Given the description of an element on the screen output the (x, y) to click on. 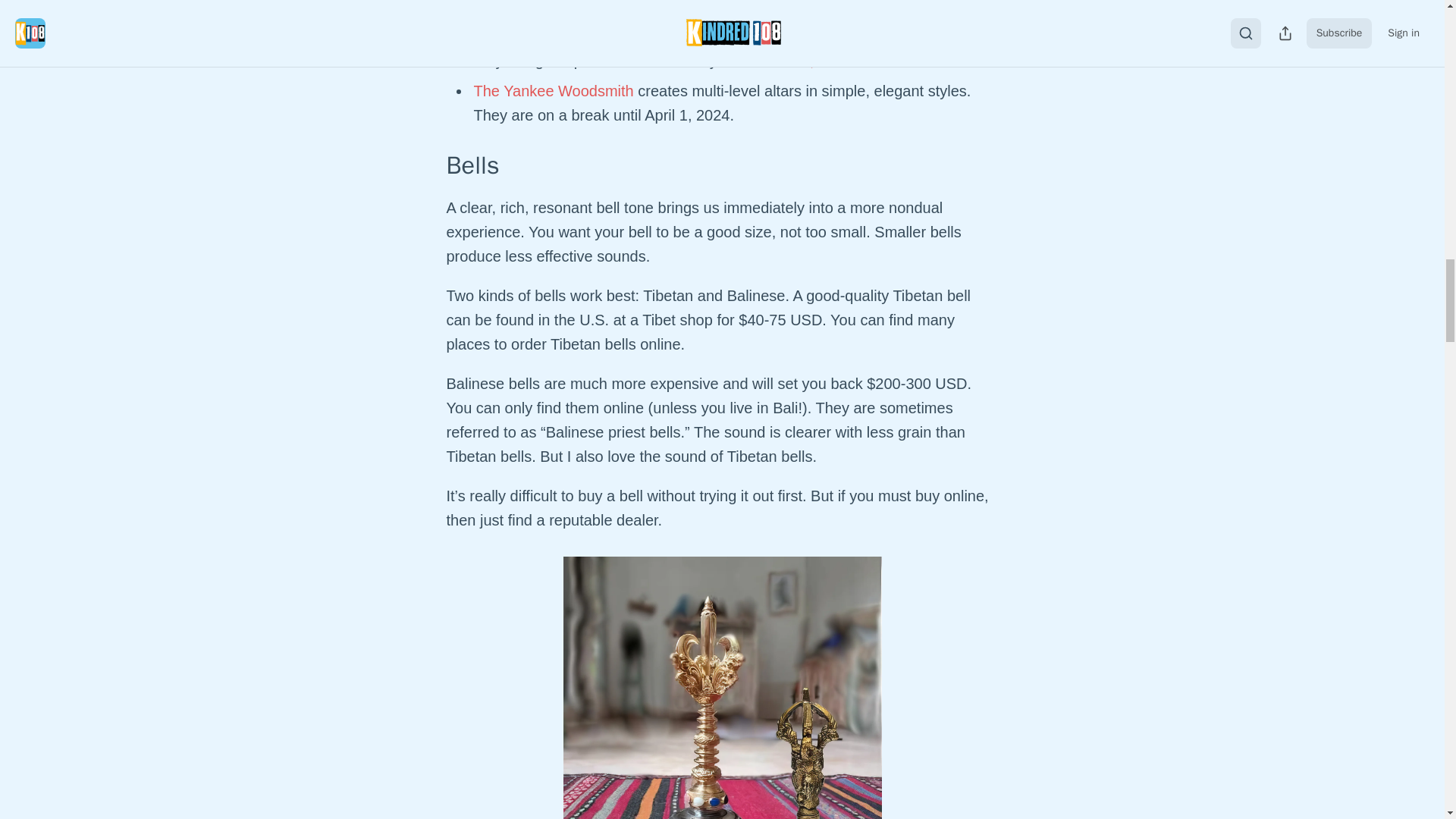
handmade, beautiful altar tables (846, 60)
The Yankee Woodsmith (553, 90)
